Given the description of an element on the screen output the (x, y) to click on. 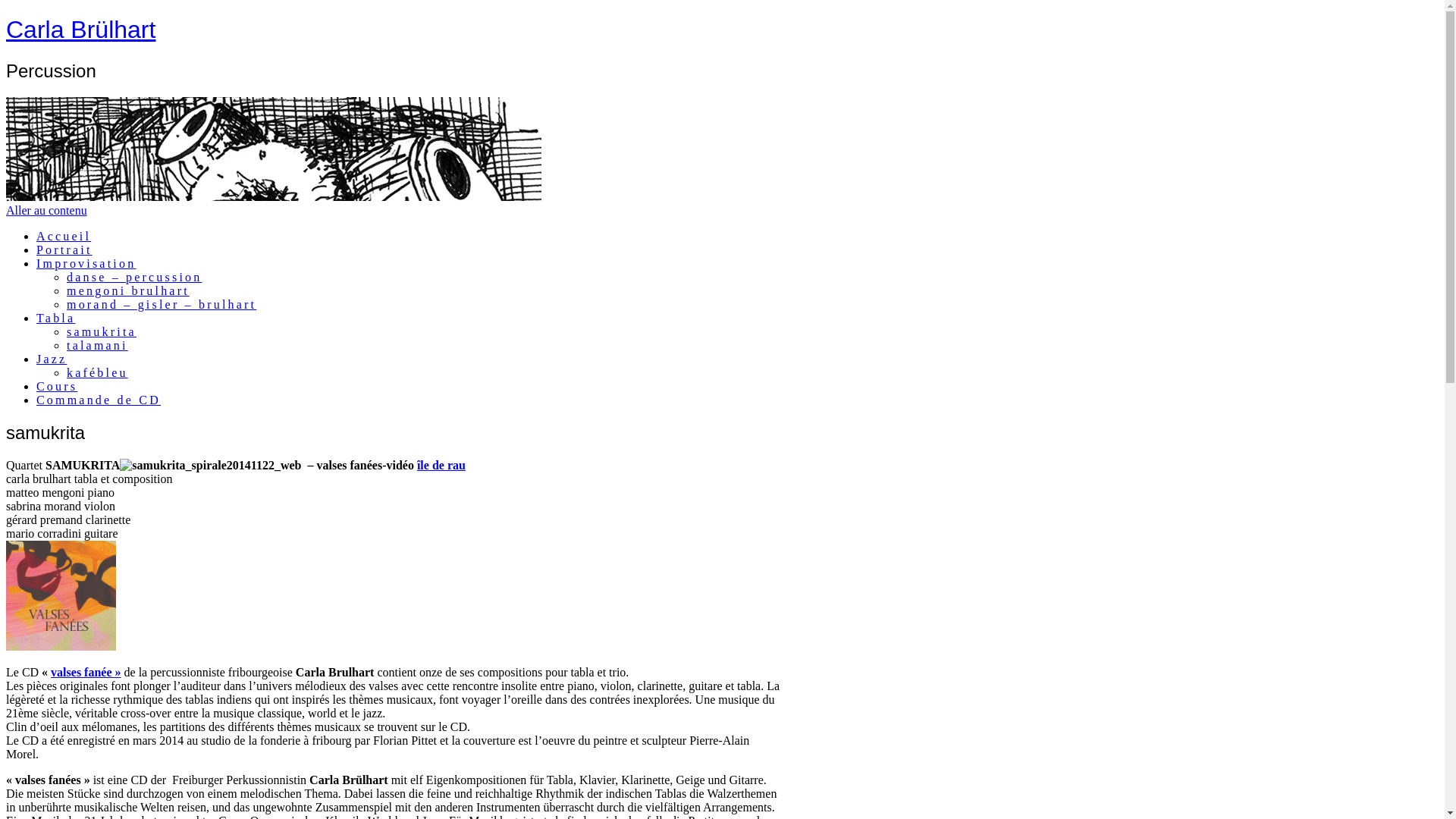
mengoni brulhart Element type: text (127, 290)
Improvisation Element type: text (85, 263)
Jazz Element type: text (51, 358)
Cours Element type: text (56, 385)
Aller au contenu Element type: text (46, 209)
talamani Element type: text (97, 344)
Portrait Element type: text (64, 249)
Tabla Element type: text (55, 317)
samukrita Element type: text (101, 331)
Commande de CD Element type: text (98, 399)
Accueil Element type: text (63, 235)
